Given the description of an element on the screen output the (x, y) to click on. 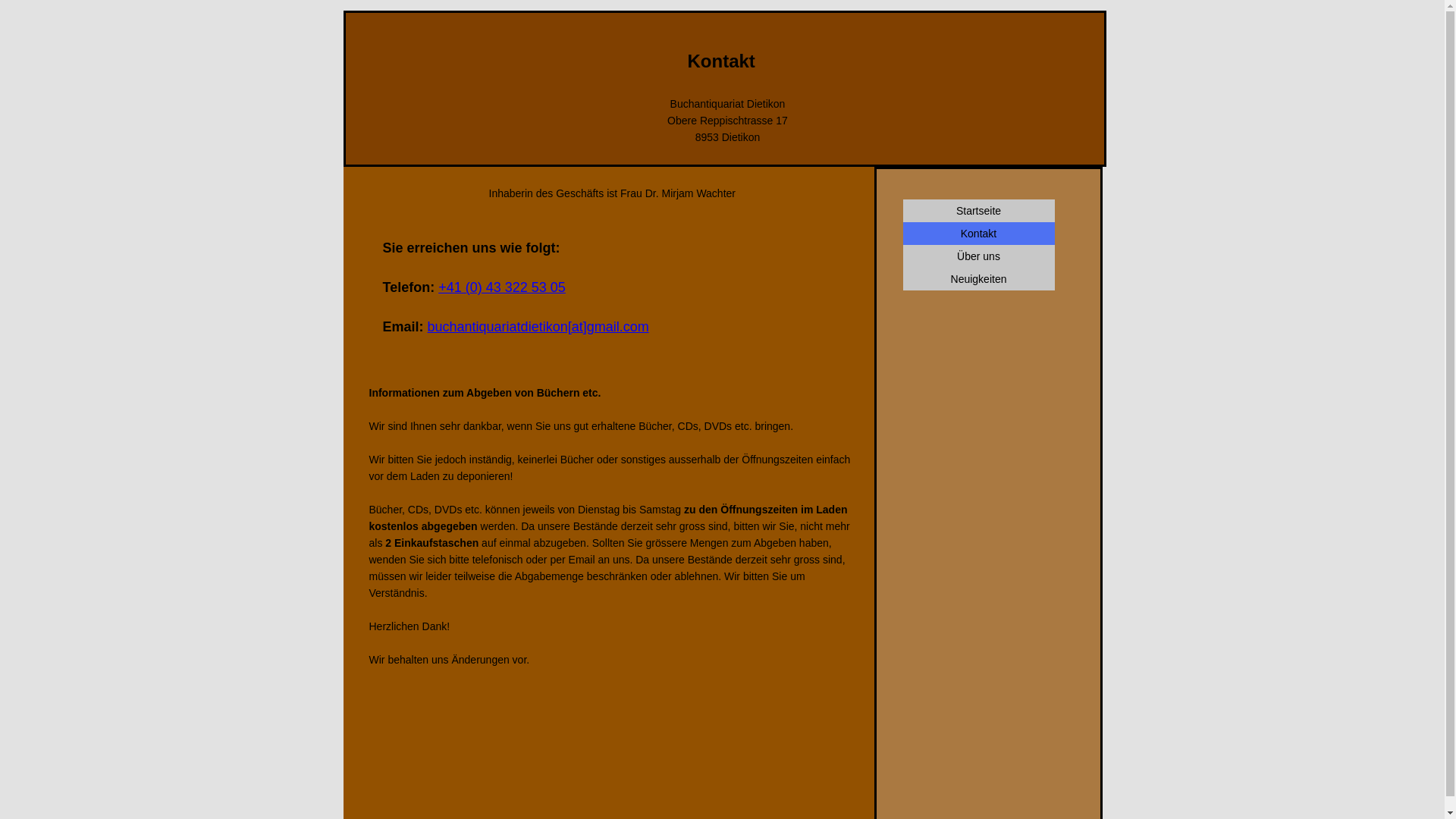
Neuigkeiten Element type: text (978, 278)
Kontakt Element type: text (978, 233)
+41 (0) 43 322 53 05 Element type: text (501, 286)
buchantiquariatdietikon[at]gmail.com Element type: text (538, 326)
Startseite Element type: text (978, 210)
